Given the description of an element on the screen output the (x, y) to click on. 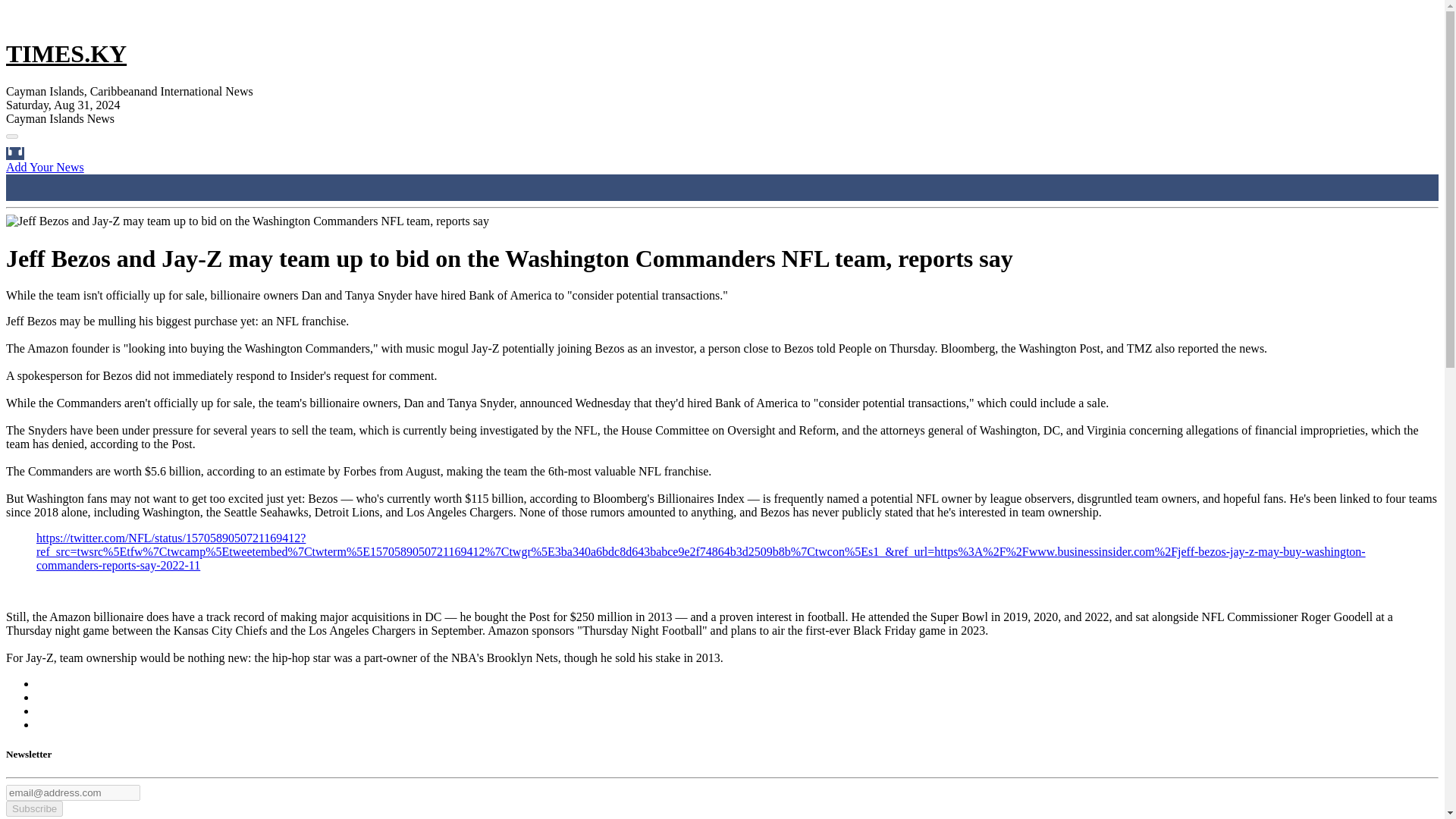
Subscribe (33, 808)
Add Your News (44, 166)
TIMES.KY (65, 53)
